Given the description of an element on the screen output the (x, y) to click on. 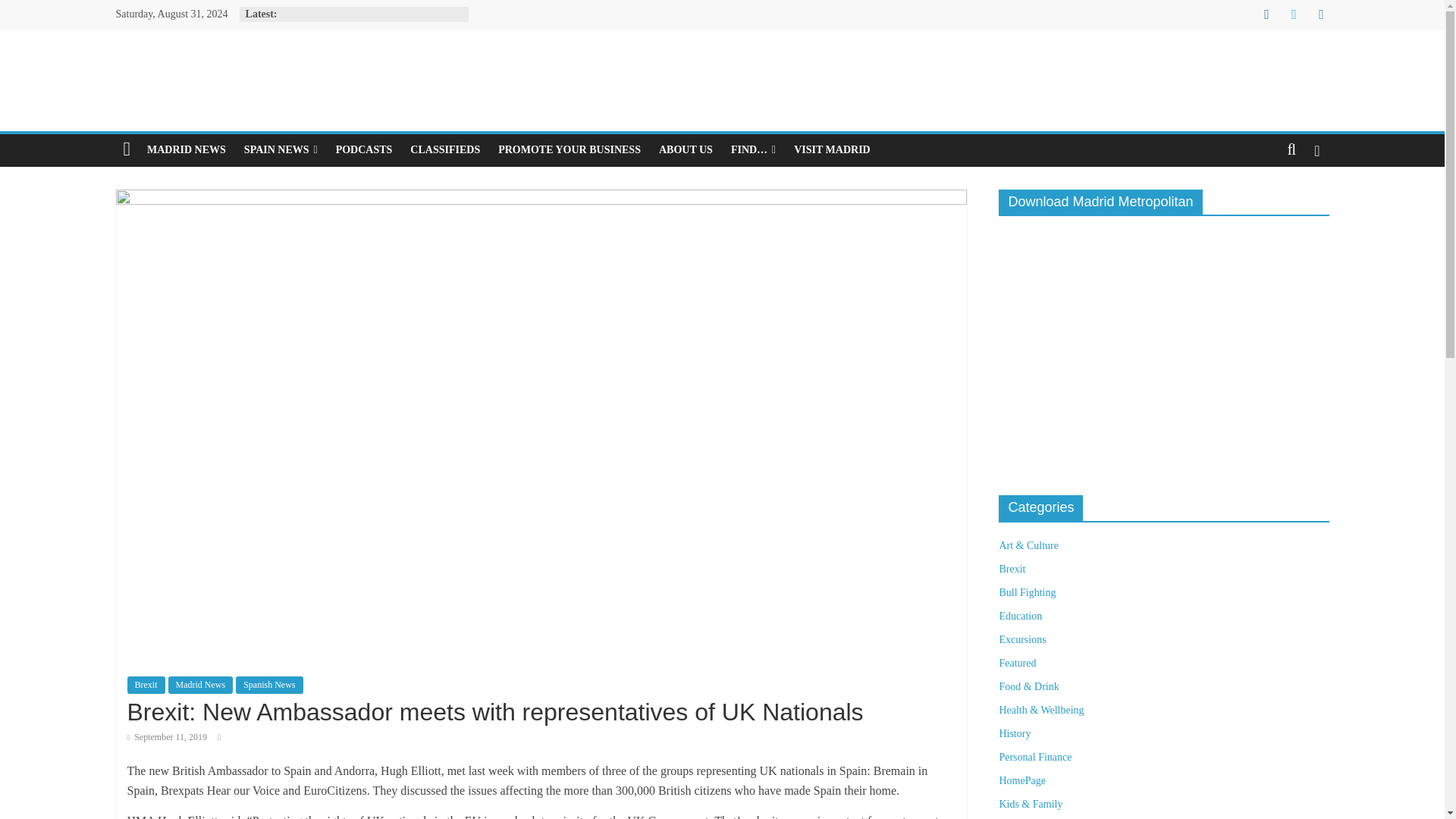
CLASSIFIEDS (445, 150)
PROMOTE YOUR BUSINESS (569, 150)
MADRID NEWS (186, 150)
ABOUT US (685, 150)
SPAIN NEWS (280, 150)
8:53 pm (168, 737)
PODCASTS (363, 150)
